Given the description of an element on the screen output the (x, y) to click on. 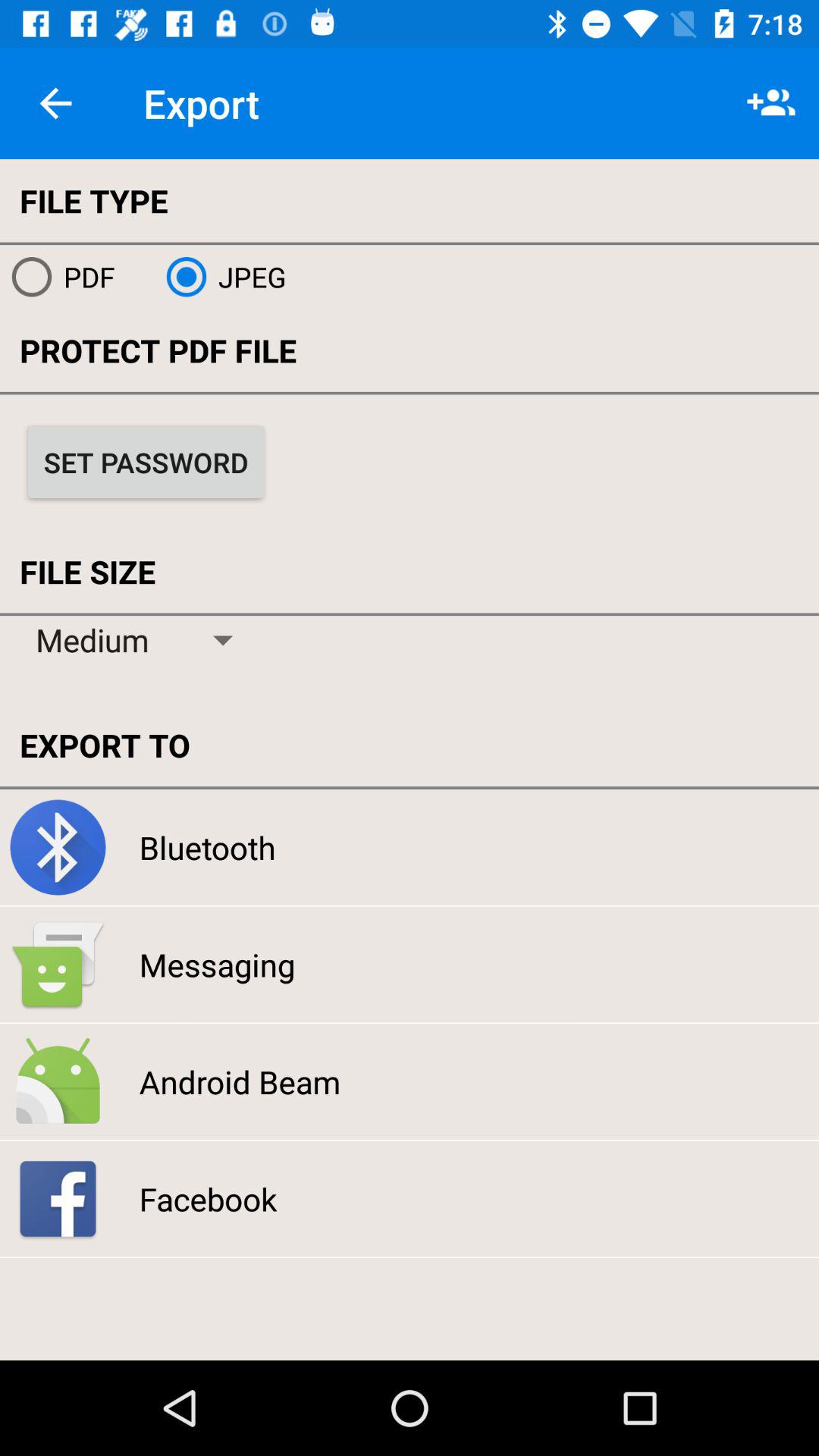
click the item above the file type item (55, 103)
